Given the description of an element on the screen output the (x, y) to click on. 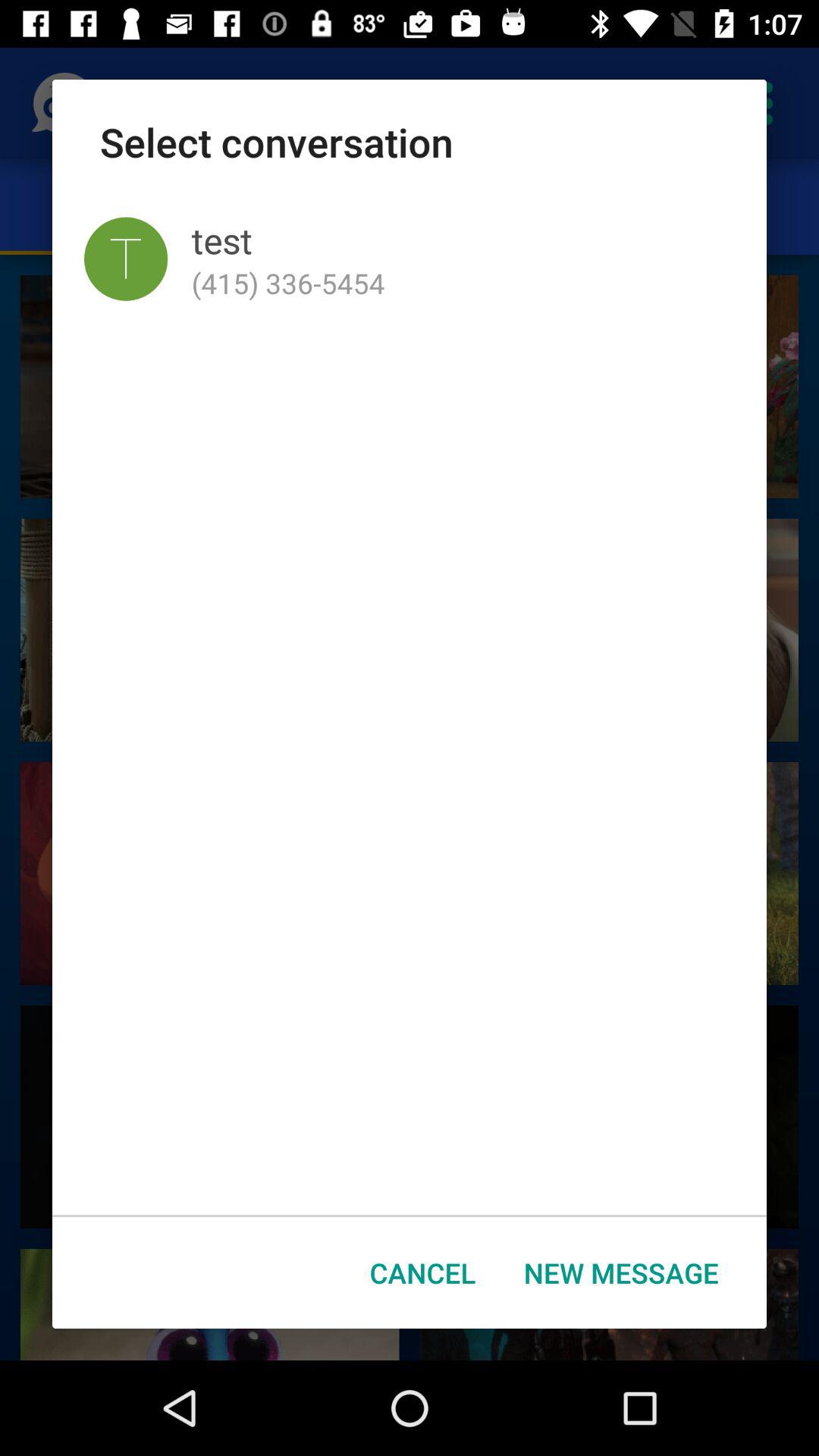
tap item next to new message (422, 1272)
